Given the description of an element on the screen output the (x, y) to click on. 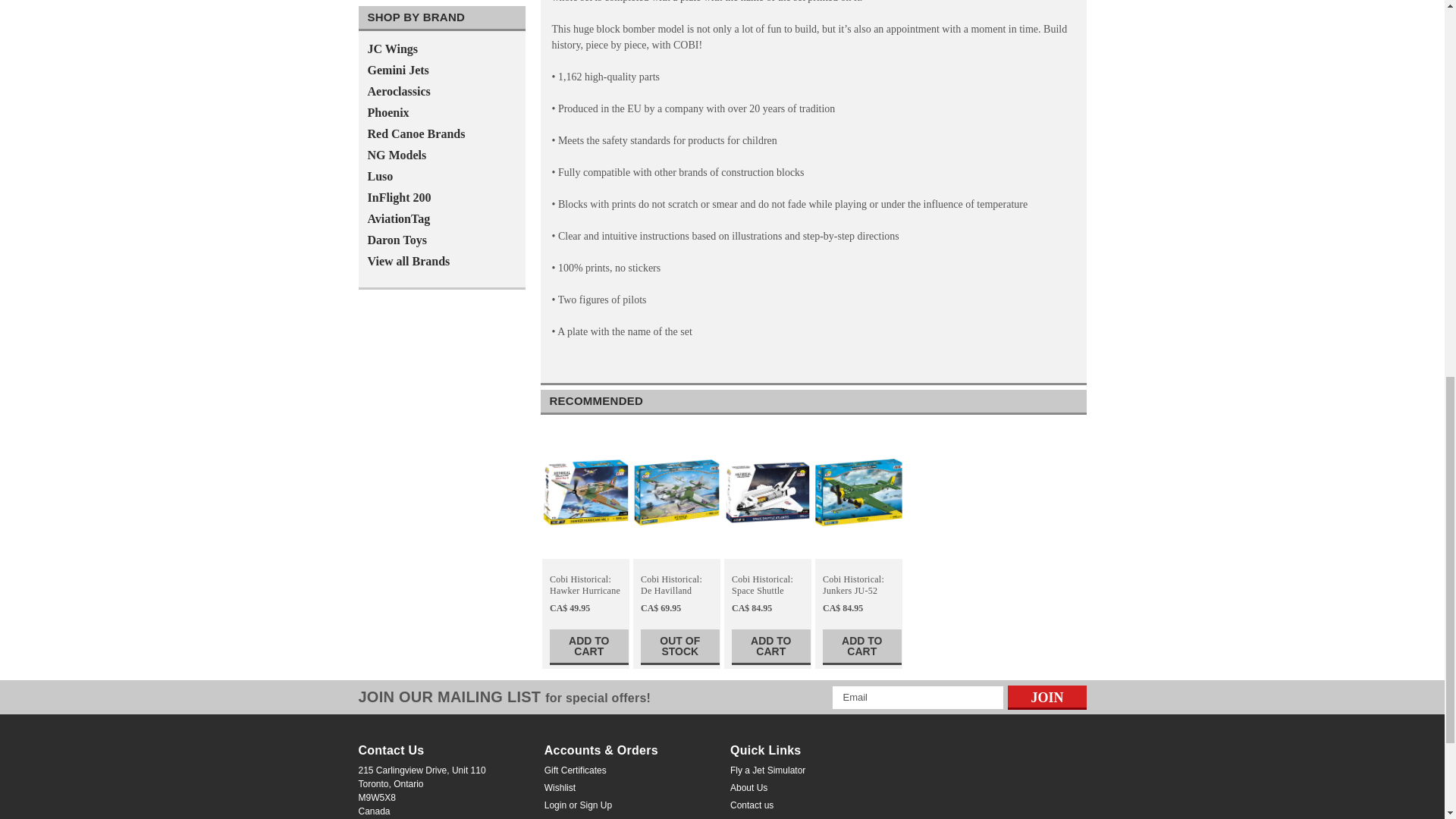
Cobi Historical: De Havilland Mosquito (676, 492)
Cobi Historical: Junkers JU-52 (858, 492)
Join (1046, 697)
Cobi Historical: Space Shuttle Atlantis (766, 492)
Cobi Historical: Hawker Hurricane  (584, 492)
